Given the description of an element on the screen output the (x, y) to click on. 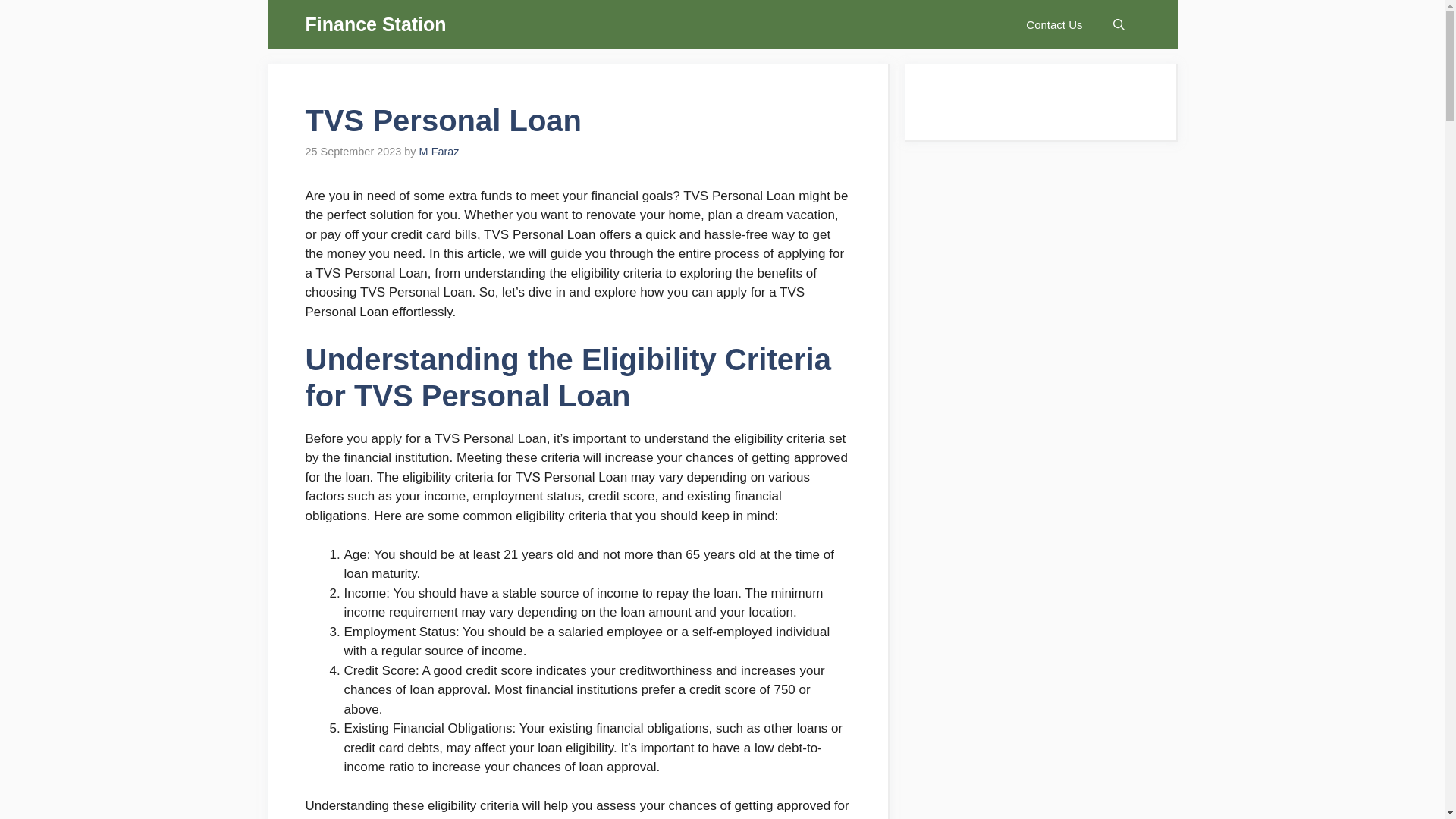
Finance Station (374, 24)
M Faraz (439, 151)
Contact Us (1053, 24)
View all posts by M Faraz (439, 151)
